Given the description of an element on the screen output the (x, y) to click on. 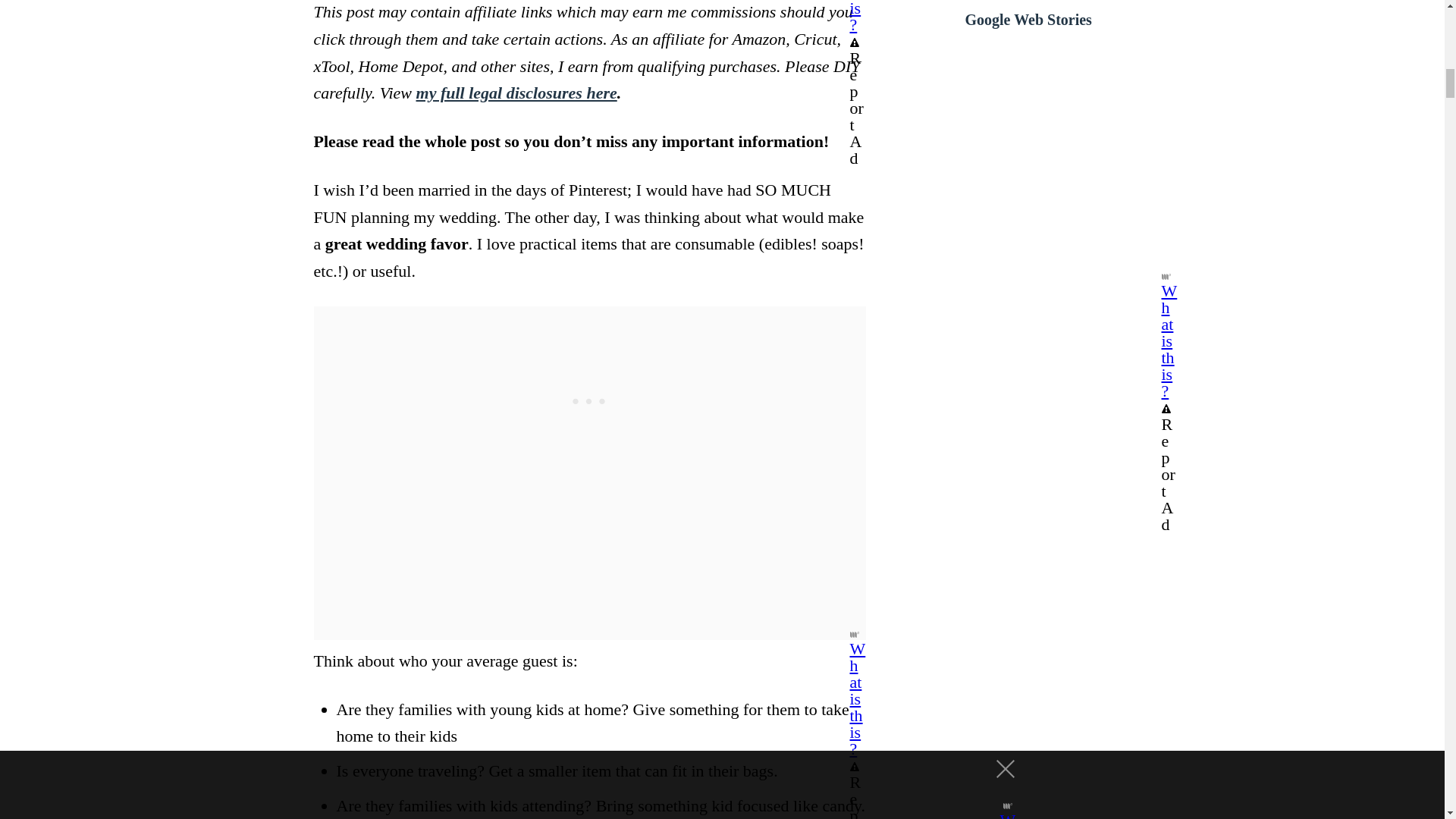
3rd party ad content (589, 401)
my full legal disclosures here (516, 92)
